Given the description of an element on the screen output the (x, y) to click on. 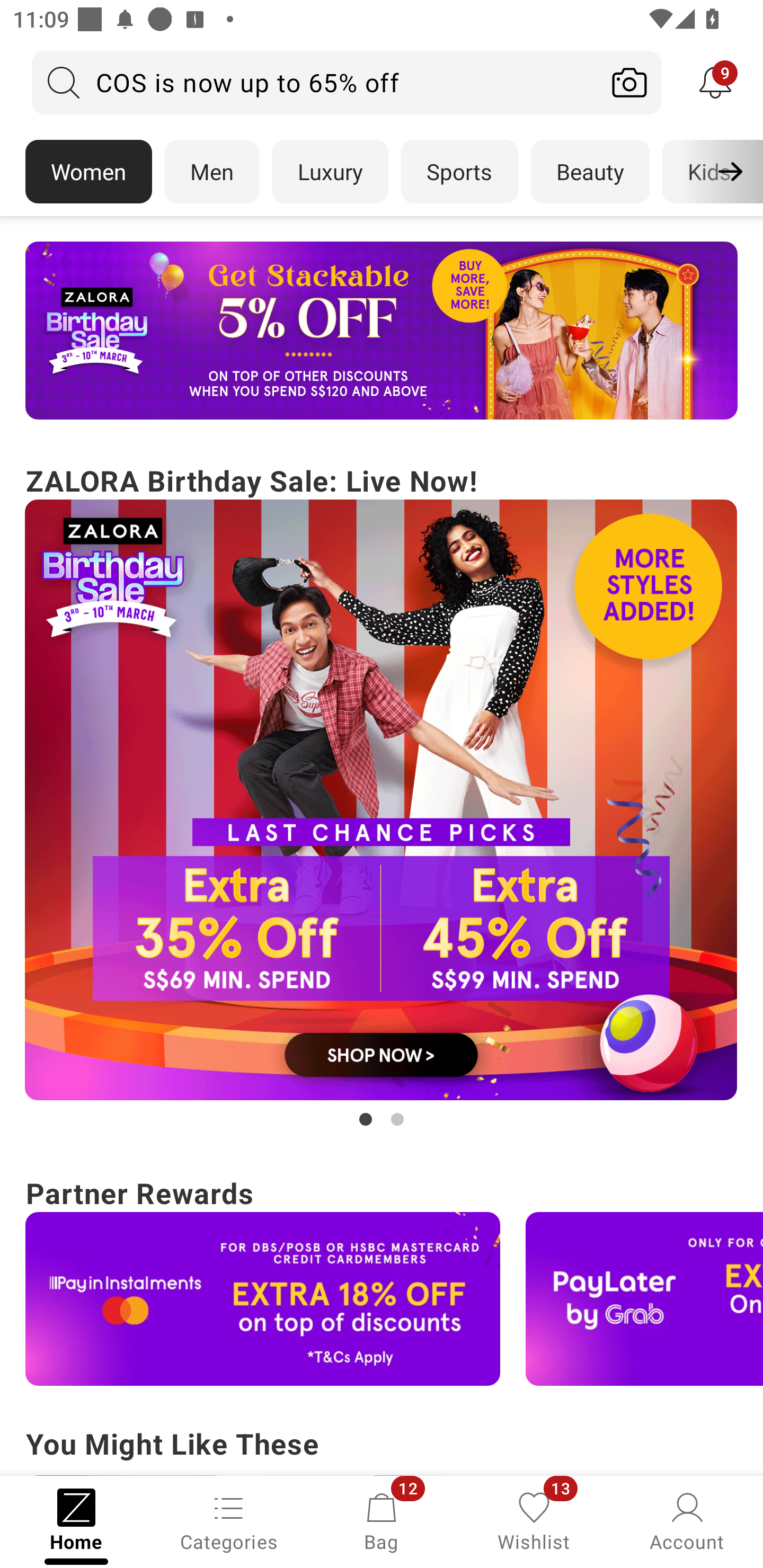
COS is now up to 65% off (314, 82)
Women (88, 171)
Men (211, 171)
Luxury (329, 171)
Sports (459, 171)
Beauty (590, 171)
Campaign banner (381, 330)
ZALORA Birthday Sale: Live Now! Campaign banner (381, 794)
Campaign banner (381, 800)
Partner Rewards Campaign banner Campaign banner (381, 1277)
Campaign banner (262, 1299)
Campaign banner (644, 1299)
Categories (228, 1519)
Bag, 12 new notifications Bag (381, 1519)
Wishlist, 13 new notifications Wishlist (533, 1519)
Account (686, 1519)
